Given the description of an element on the screen output the (x, y) to click on. 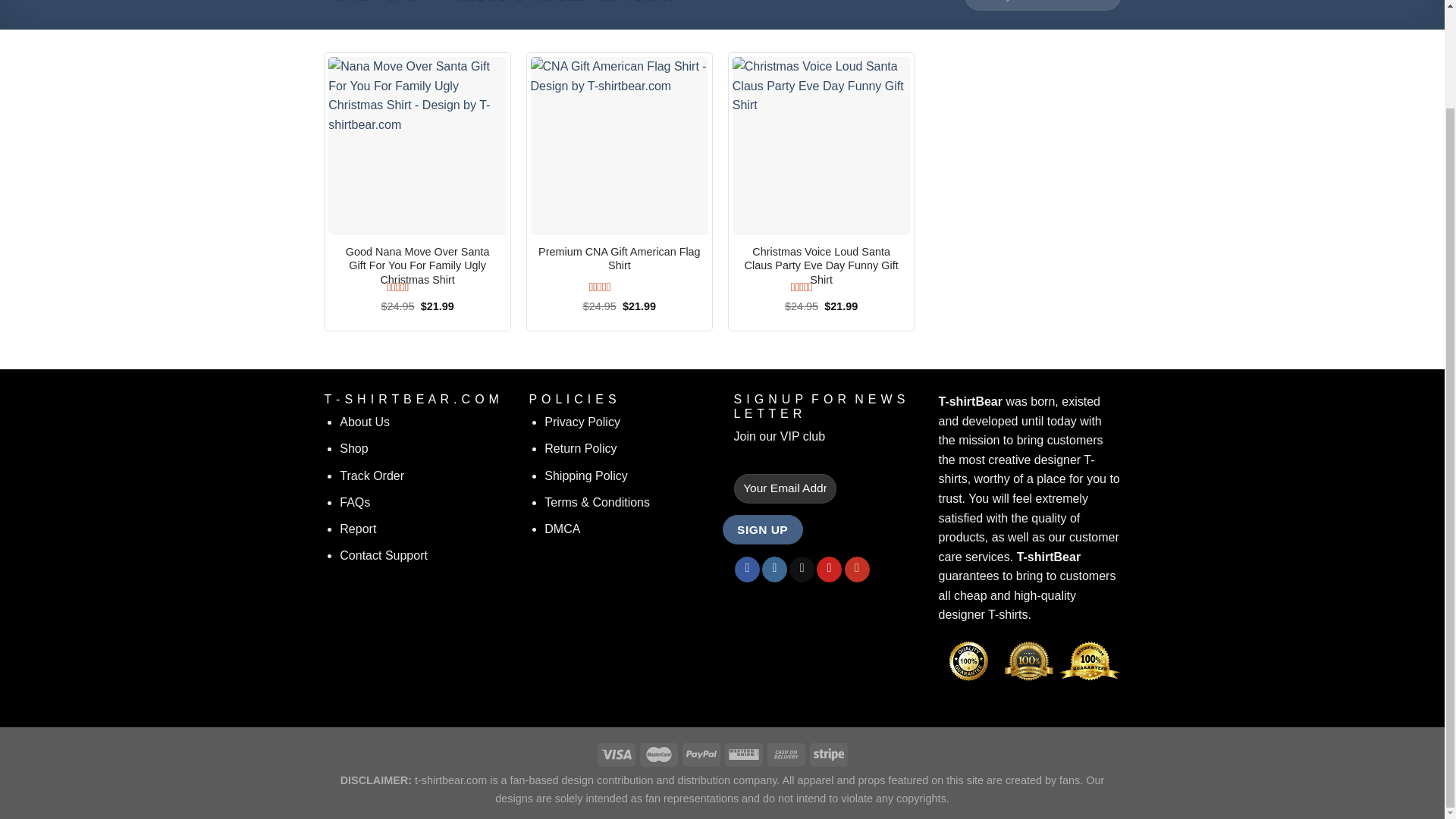
Follow on Instagram (774, 569)
Follow on Facebook (747, 569)
Send us an email (801, 569)
Follow on YouTube (856, 569)
Track Order (371, 475)
Follow on Pinterest (828, 569)
FAQs (354, 502)
About Us (364, 421)
Contact Support (383, 554)
Premium CNA Gift American Flag Shirt (619, 258)
Sign Up (762, 529)
Sign Up (762, 529)
Shop (353, 448)
SHOP (405, 1)
